Given the description of an element on the screen output the (x, y) to click on. 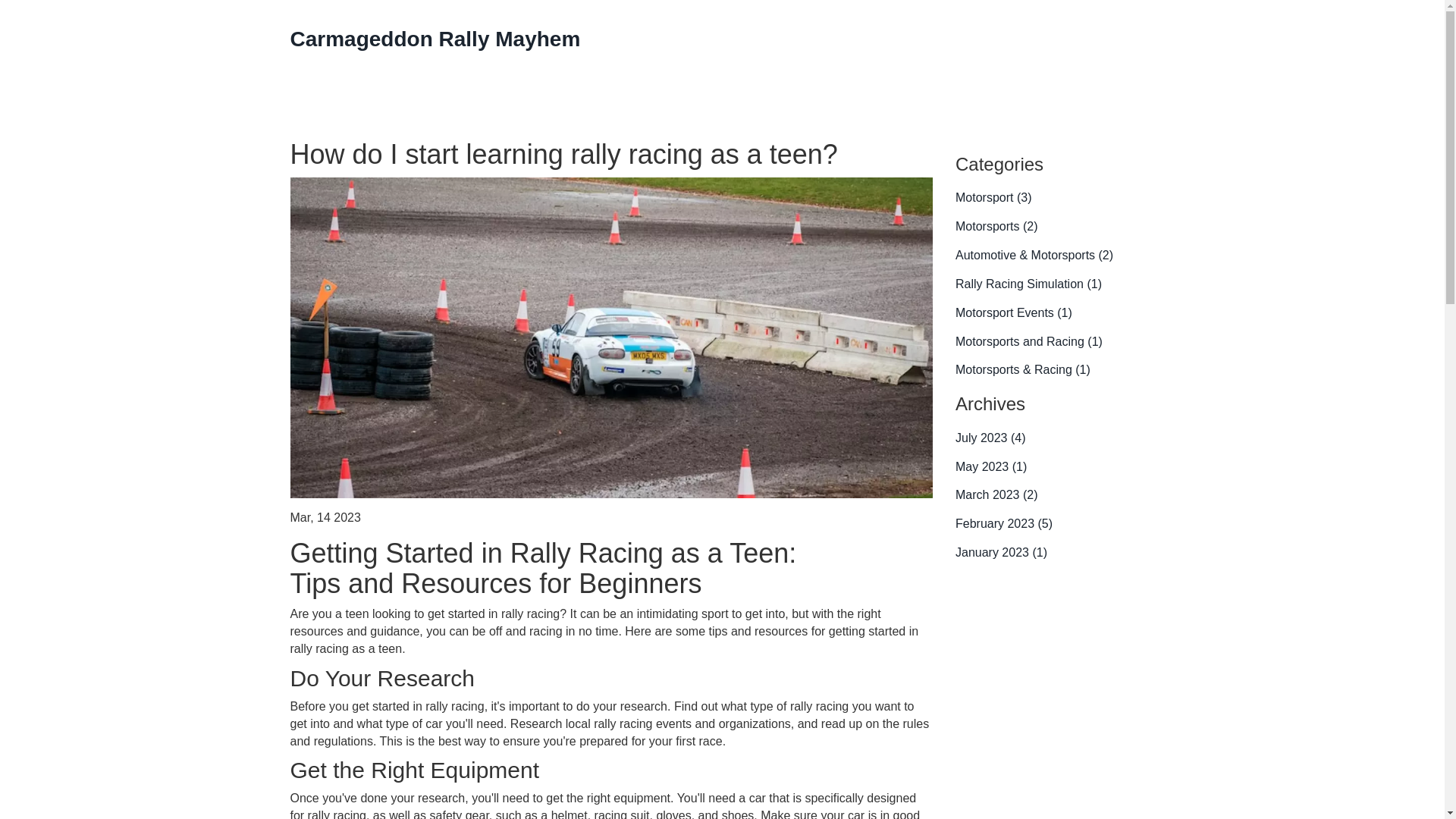
Carmageddon Rally Mayhem (434, 38)
